Given the description of an element on the screen output the (x, y) to click on. 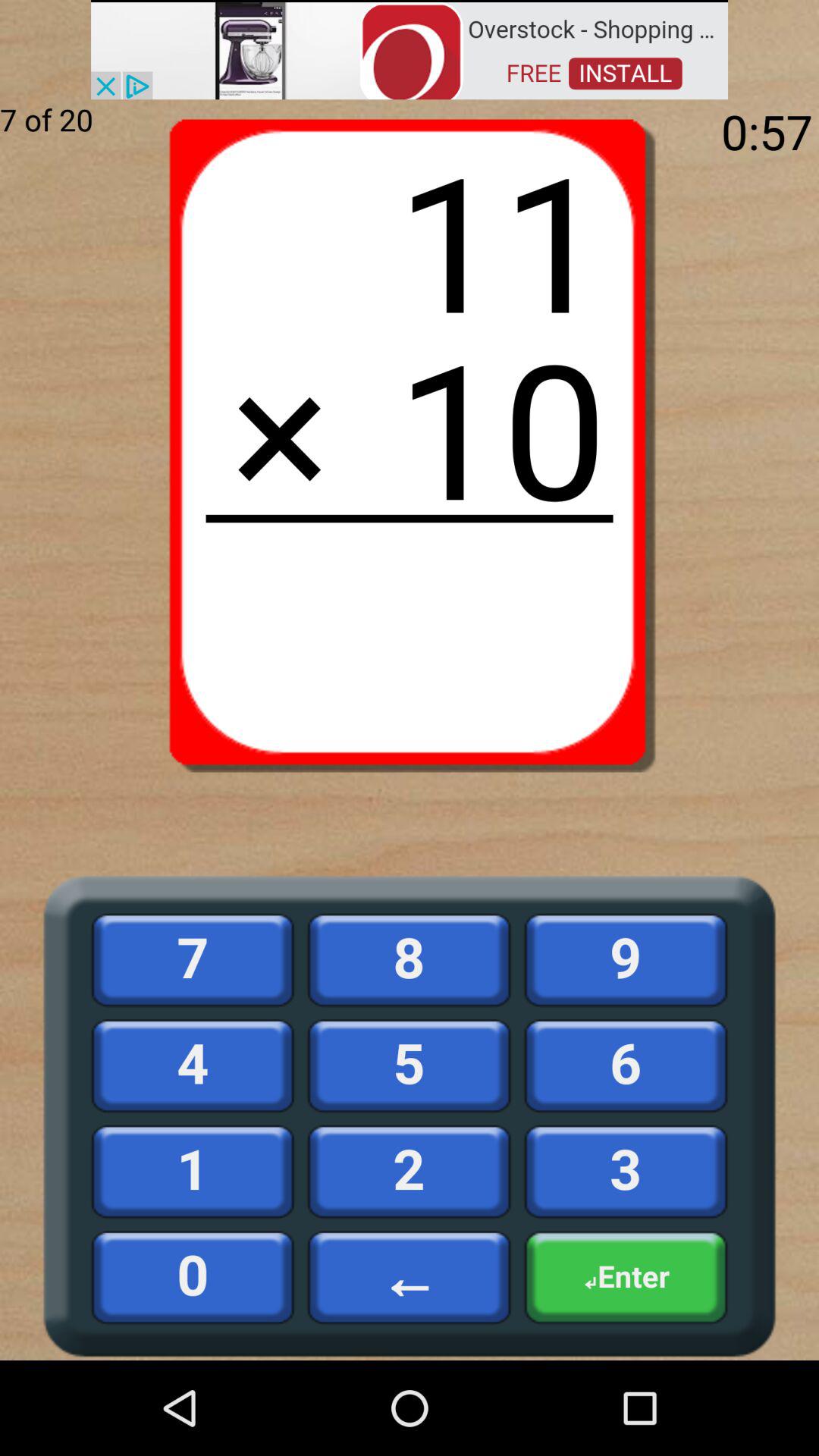
select the number 6 (625, 1065)
select the 9 button (625, 959)
click on the 3 button (625, 1171)
select the number 0 on keypad (192, 1277)
select the number below 8 (409, 1065)
click on the number 2 below the number 5 (409, 1171)
